Given the description of an element on the screen output the (x, y) to click on. 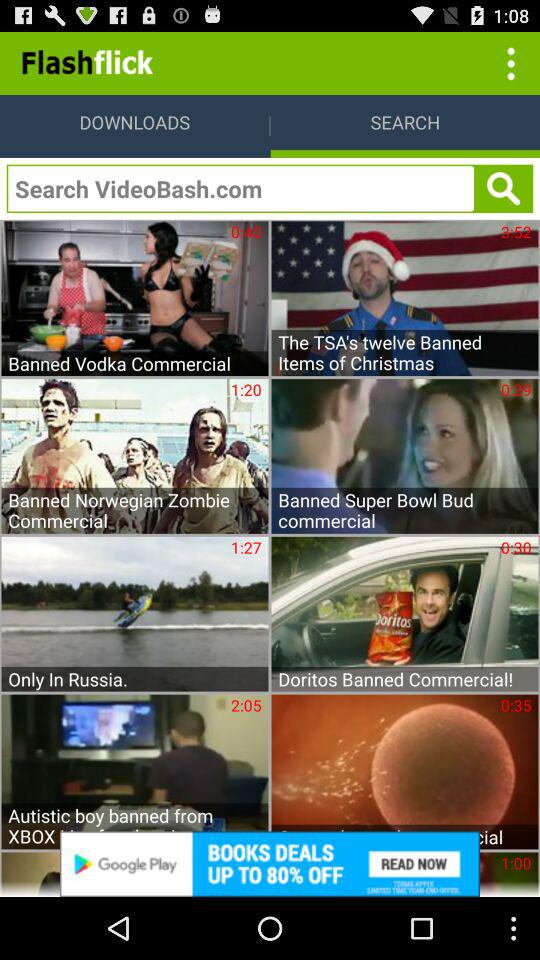
options (508, 62)
